Given the description of an element on the screen output the (x, y) to click on. 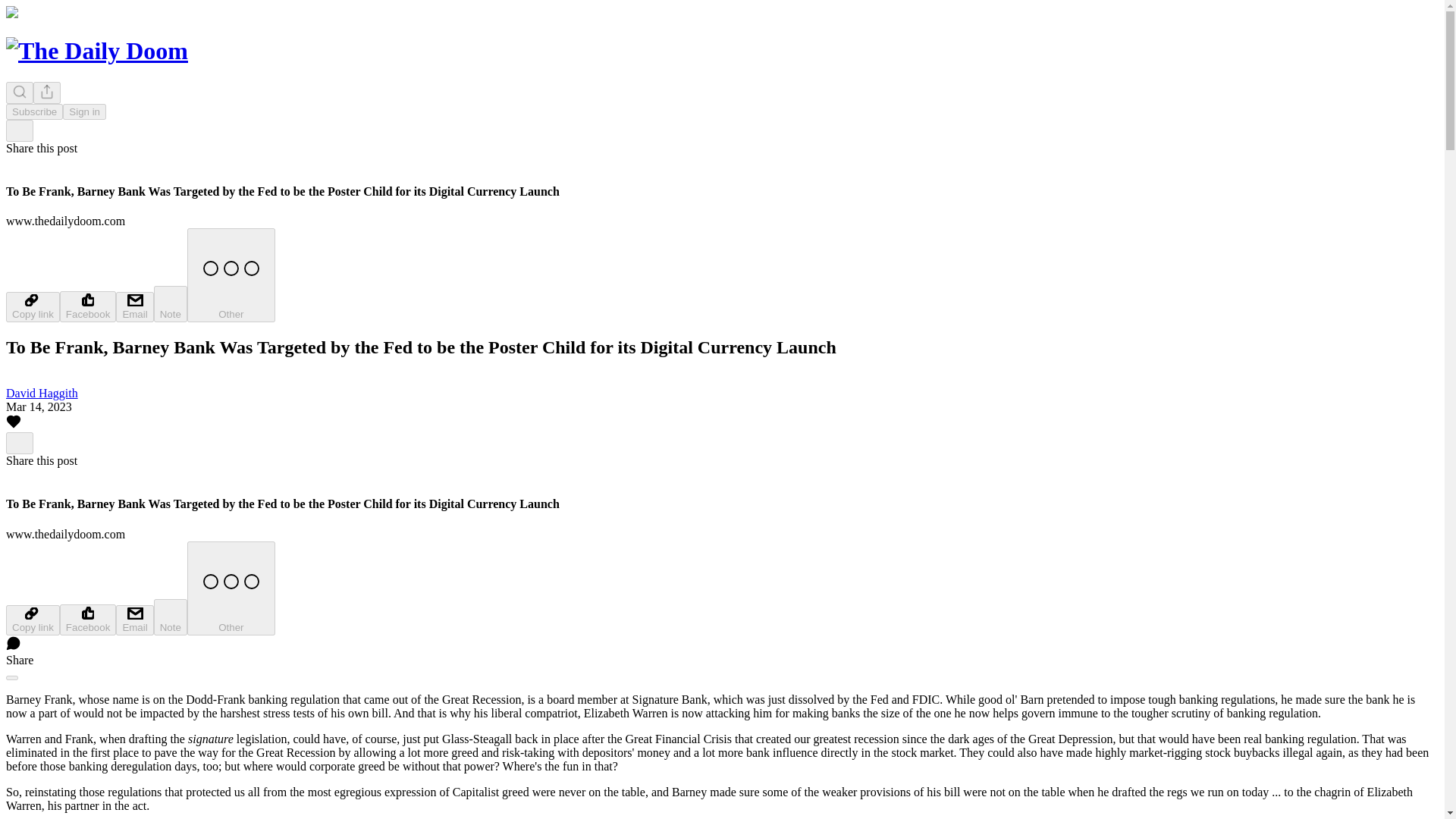
Other (231, 588)
David Haggith (41, 392)
Sign in (84, 111)
Note (170, 303)
Email (134, 620)
Other (231, 275)
Facebook (87, 619)
Copy link (32, 306)
Subscribe (33, 111)
Facebook (87, 306)
